Given the description of an element on the screen output the (x, y) to click on. 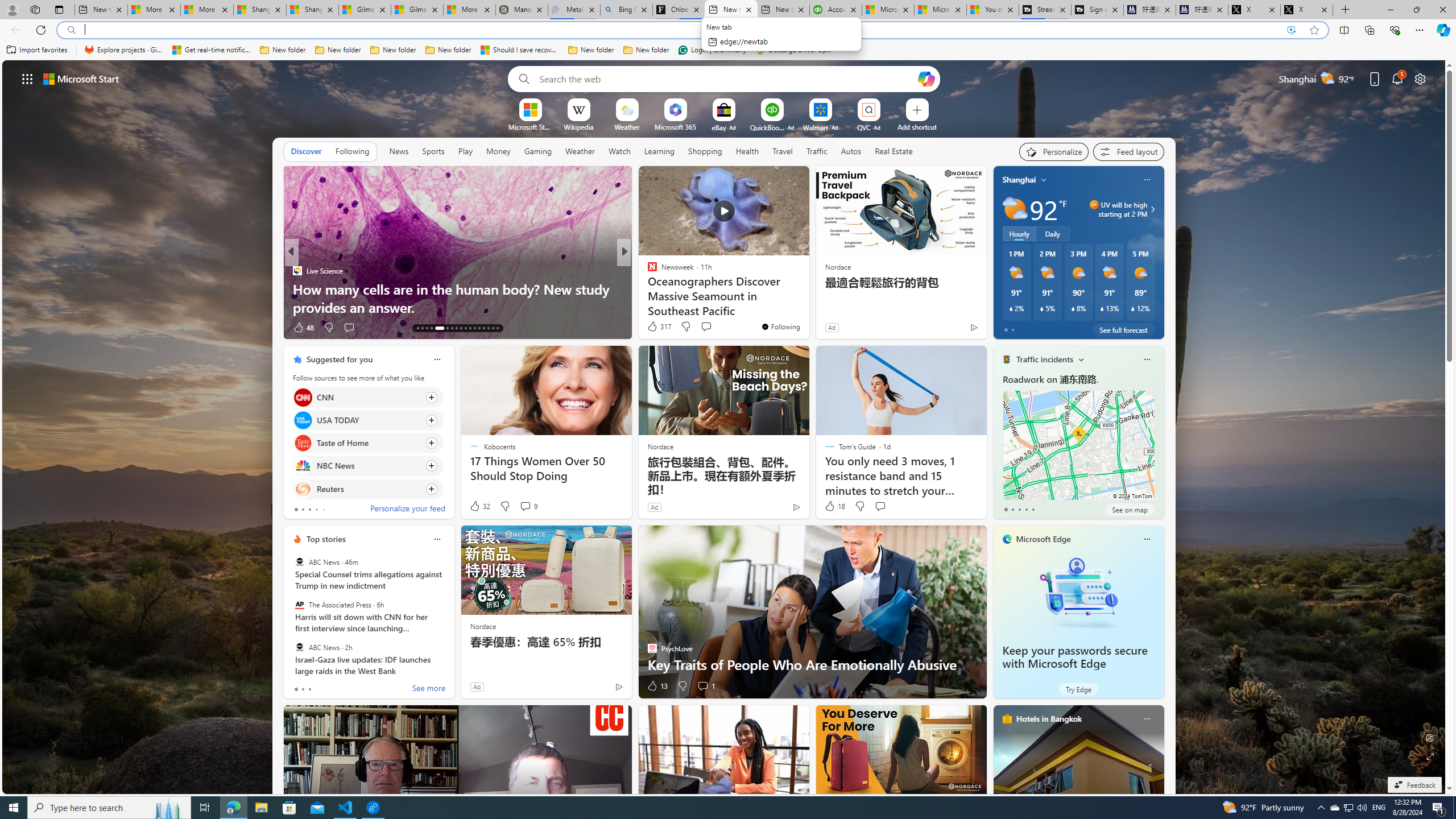
2 Like (651, 327)
View comments 12 Comment (704, 327)
To get missing image descriptions, open the context menu. (529, 109)
UV will be high starting at 2 PM (1150, 208)
Travel (782, 151)
Gilma and Hector both pose tropical trouble for Hawaii (416, 9)
USA TODAY (302, 419)
Sports (432, 151)
129 Like (654, 327)
Traffic Title Traffic Light (1005, 358)
Search icon (70, 29)
View comments 12 Comment (698, 327)
Streaming Coverage | T3 (1044, 9)
